Given the description of an element on the screen output the (x, y) to click on. 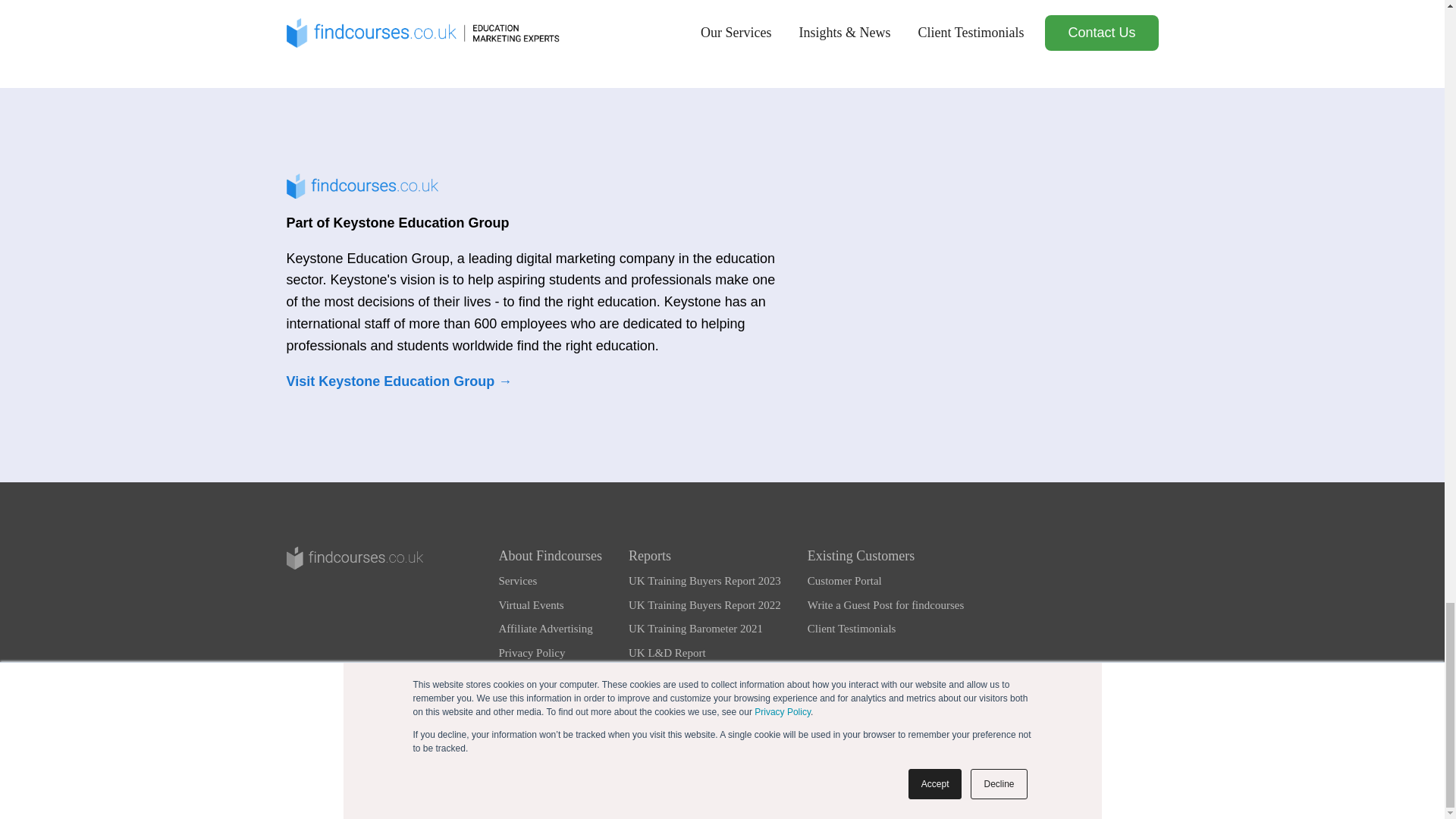
Instagram (672, 747)
LinkedIn (721, 747)
Facebook (771, 747)
